Given the description of an element on the screen output the (x, y) to click on. 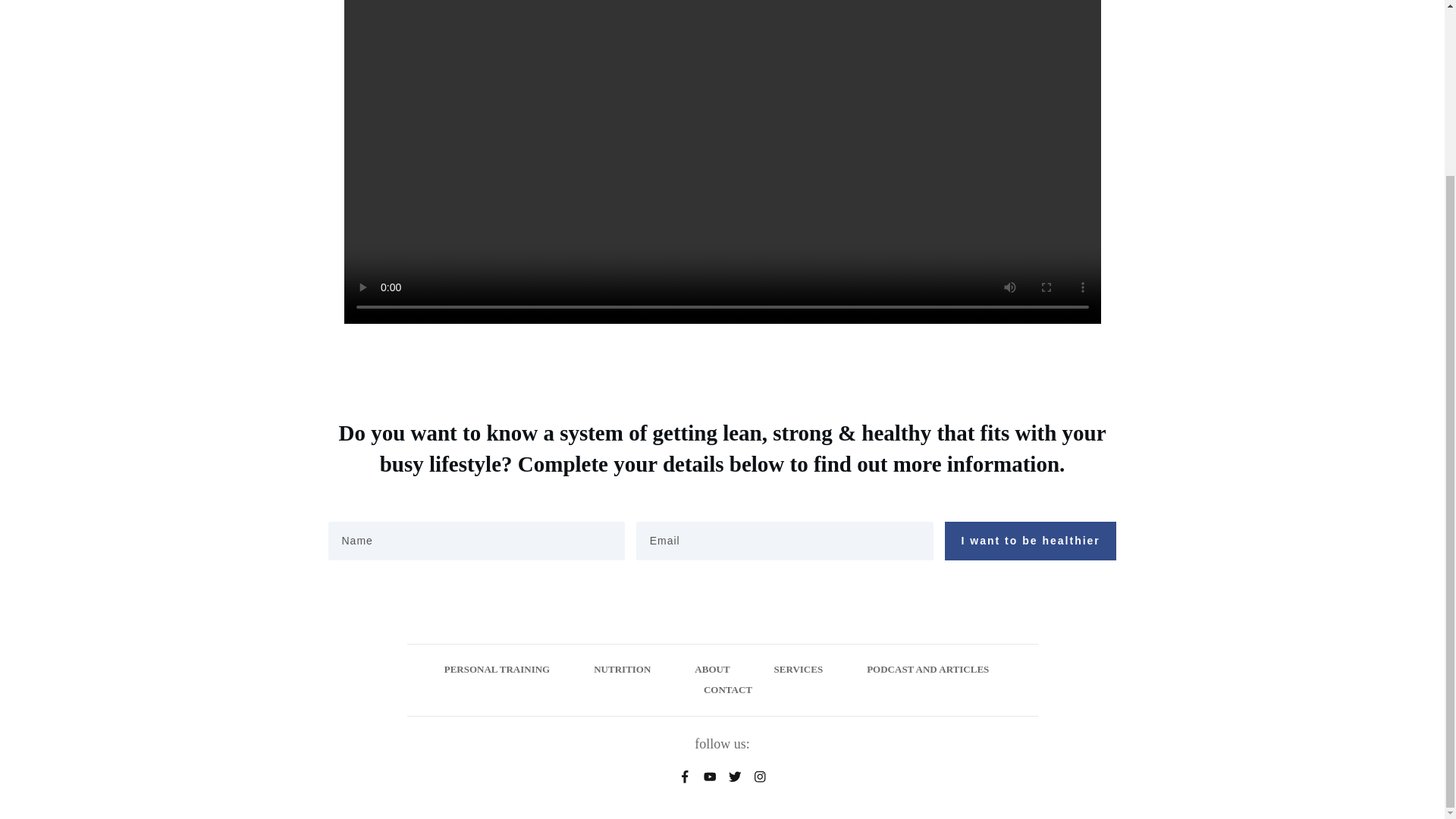
ABOUT (711, 669)
SERVICES (799, 669)
PODCAST AND ARTICLES (927, 669)
I want to be healthier (1030, 540)
CONTACT (727, 690)
PERSONAL TRAINING (497, 669)
NUTRITION (622, 669)
